Given the description of an element on the screen output the (x, y) to click on. 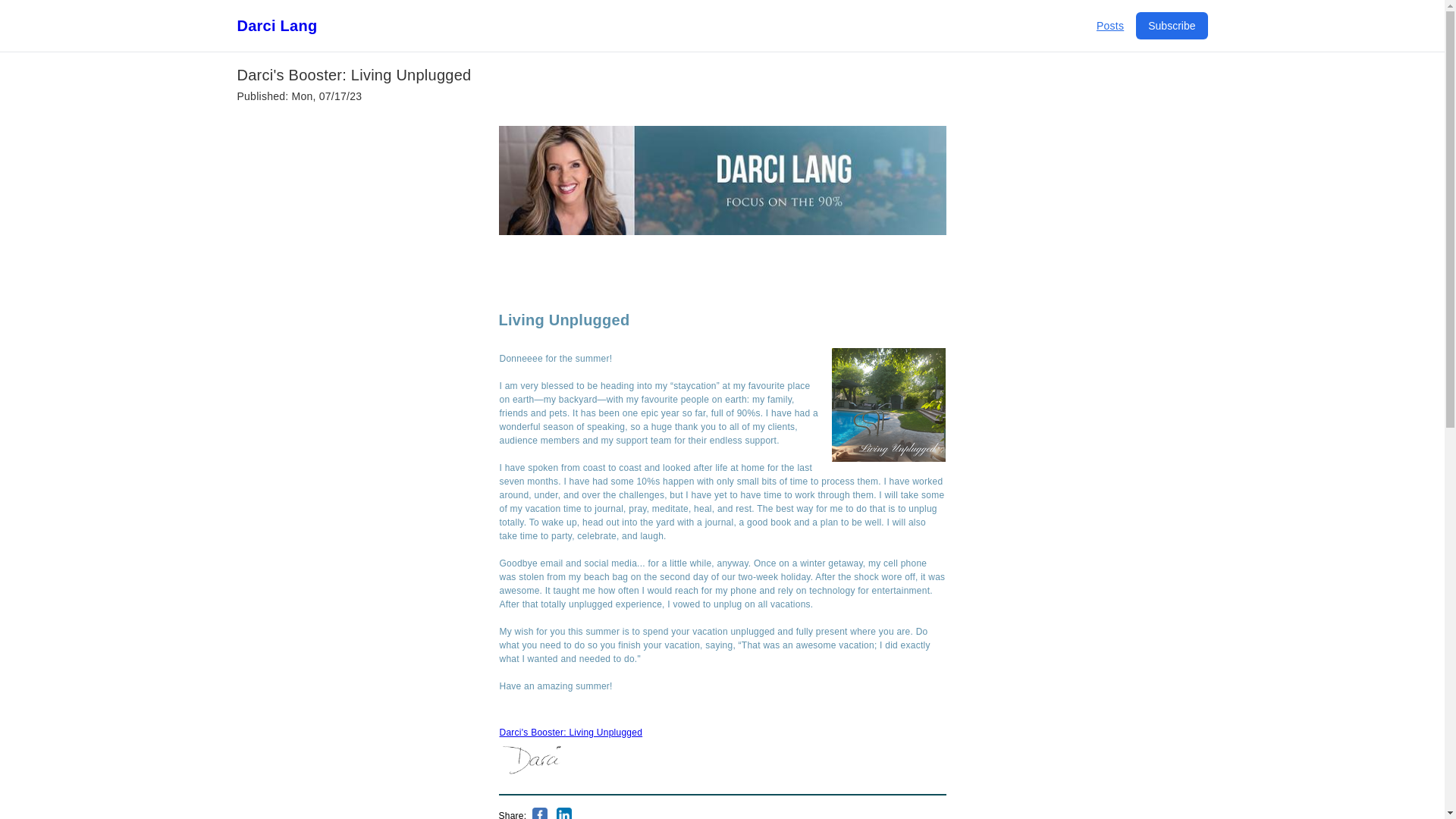
Posts (1110, 25)
Living Unplugged (564, 320)
Subscribe (1171, 25)
Darci Lang (276, 25)
Darci Lang (276, 25)
Darci's Booster: Living Unplugged (570, 732)
